Given the description of an element on the screen output the (x, y) to click on. 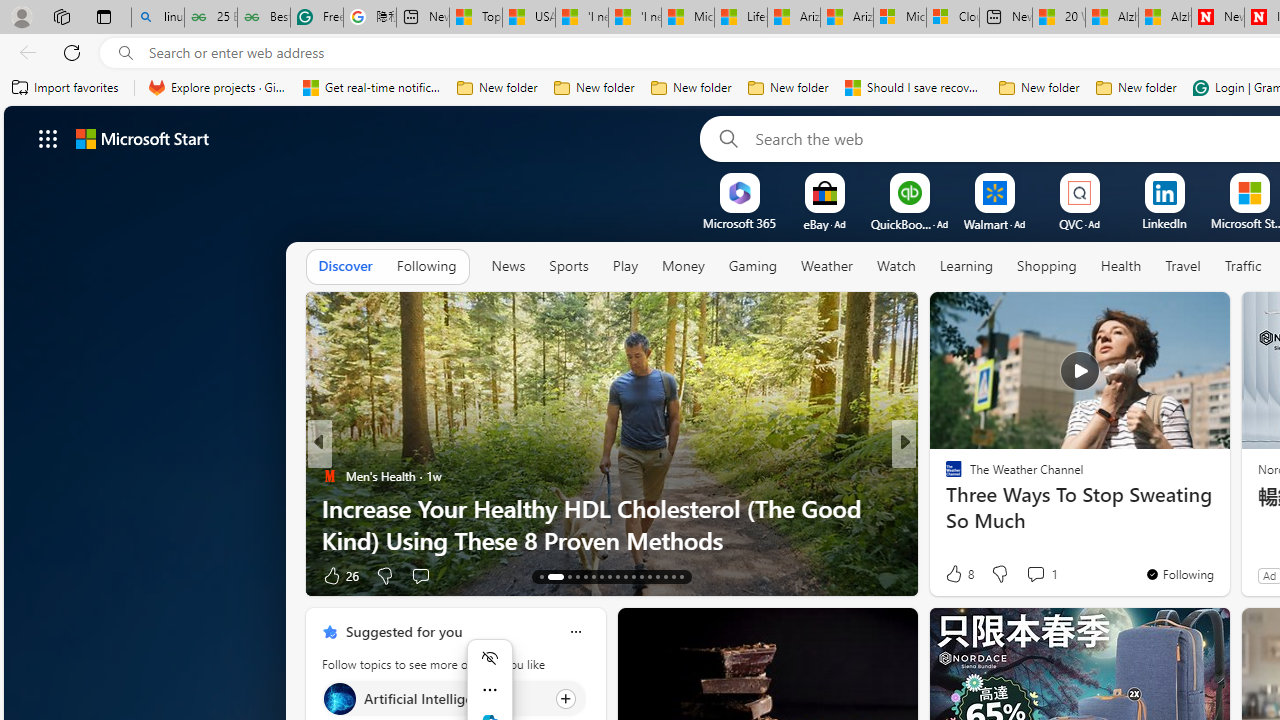
68 Like (956, 574)
Play (625, 267)
AutomationID: tab-24 (641, 576)
View comments 3 Comment (1042, 575)
Gaming (752, 265)
Men's Health (329, 475)
PC World (944, 475)
Body Network (944, 507)
AutomationID: tab-18 (592, 576)
Health (1121, 265)
Cloud Computing Services | Microsoft Azure (952, 17)
